Given the description of an element on the screen output the (x, y) to click on. 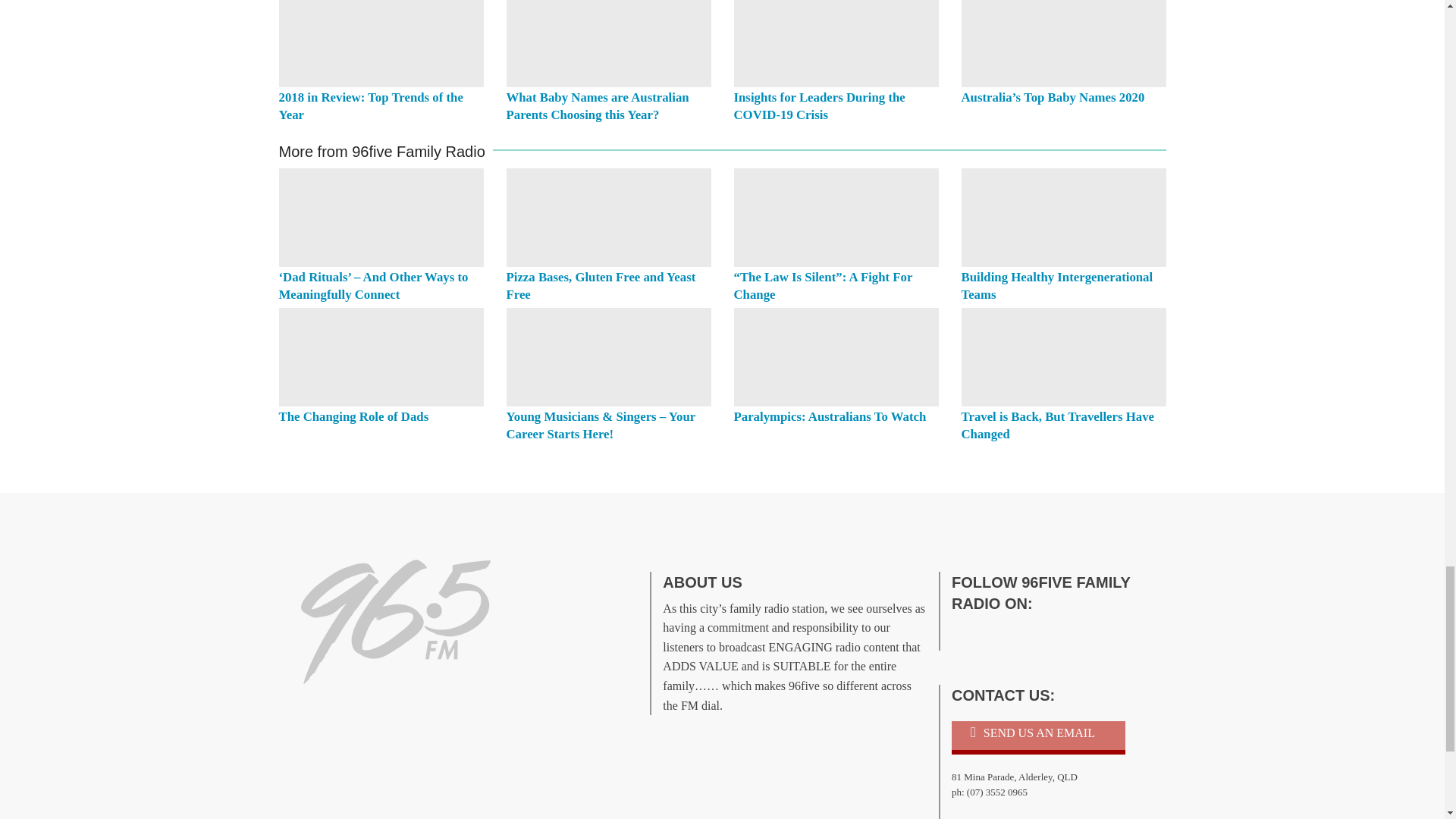
Insights for Leaders During the COVID-19 Crisis (819, 106)
2018 in Review: Top Trends of the Year (371, 106)
What Baby Names are Australian Parents Choosing this Year? (597, 106)
Pizza Bases, Gluten Free and Yeast Free (600, 286)
What Baby Names are Australian Parents Choosing this Year? (608, 43)
Insights for Leaders During the COVID-19 Crisis (836, 43)
Pizza Bases, Gluten Free and Yeast Free (608, 217)
2018 in Review: Top Trends of the Year (381, 43)
